Given the description of an element on the screen output the (x, y) to click on. 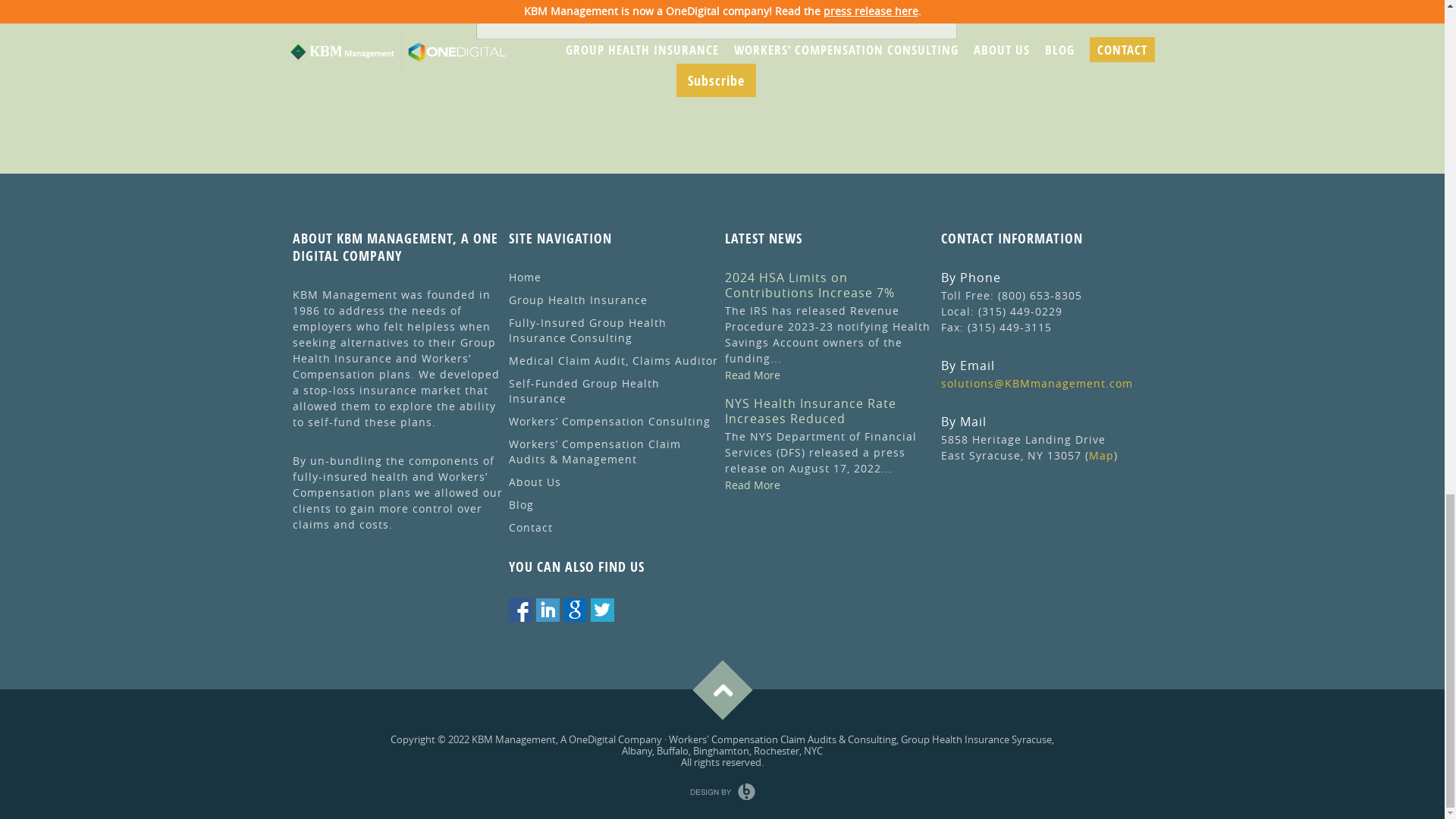
Subscribe (716, 80)
Group Health Insurance (394, 350)
Web Design, Web Development Syracuse NY (722, 791)
Subscribe (716, 80)
